Given the description of an element on the screen output the (x, y) to click on. 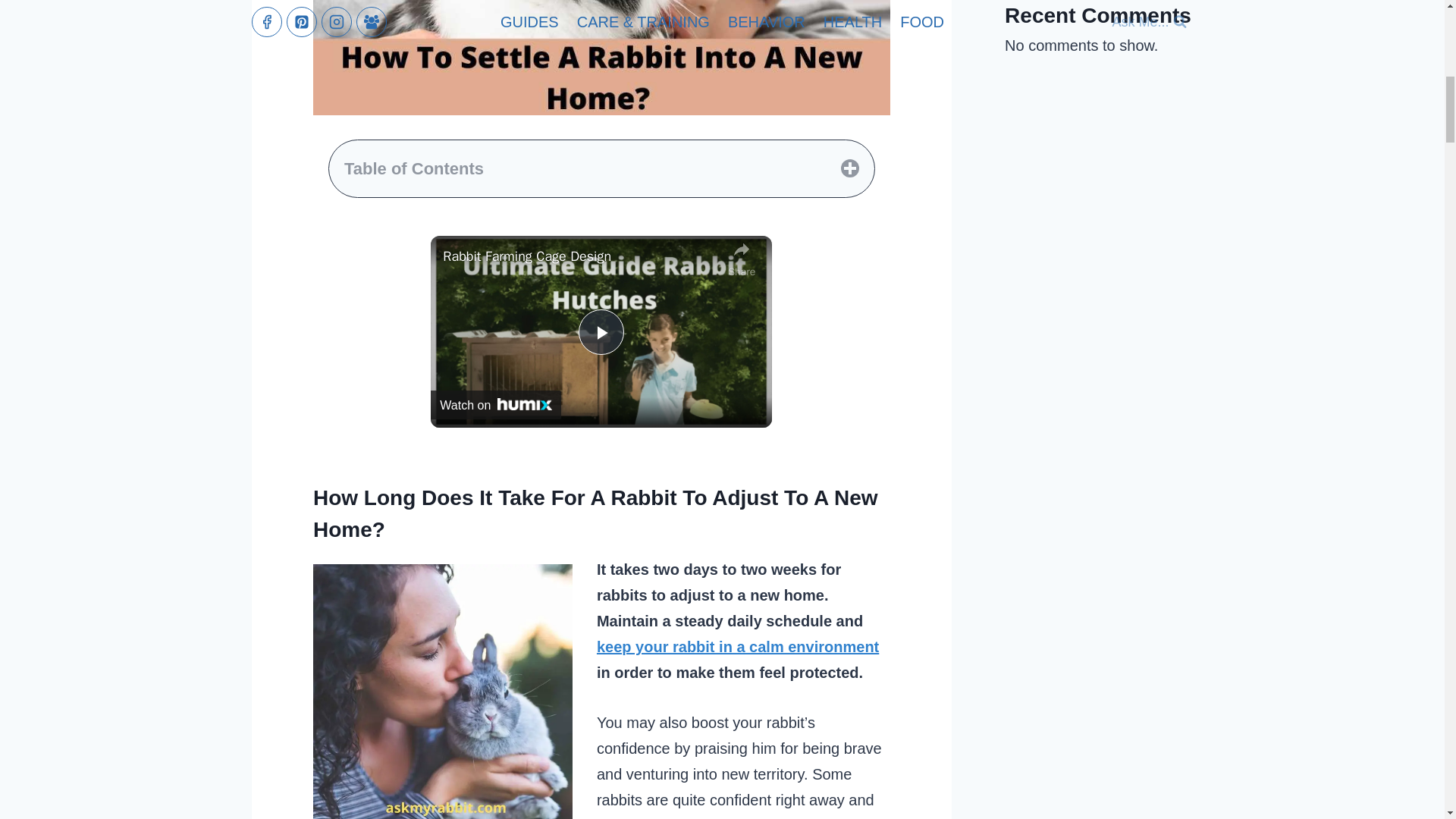
Play Video (601, 331)
Table of Contents (601, 168)
